Given the description of an element on the screen output the (x, y) to click on. 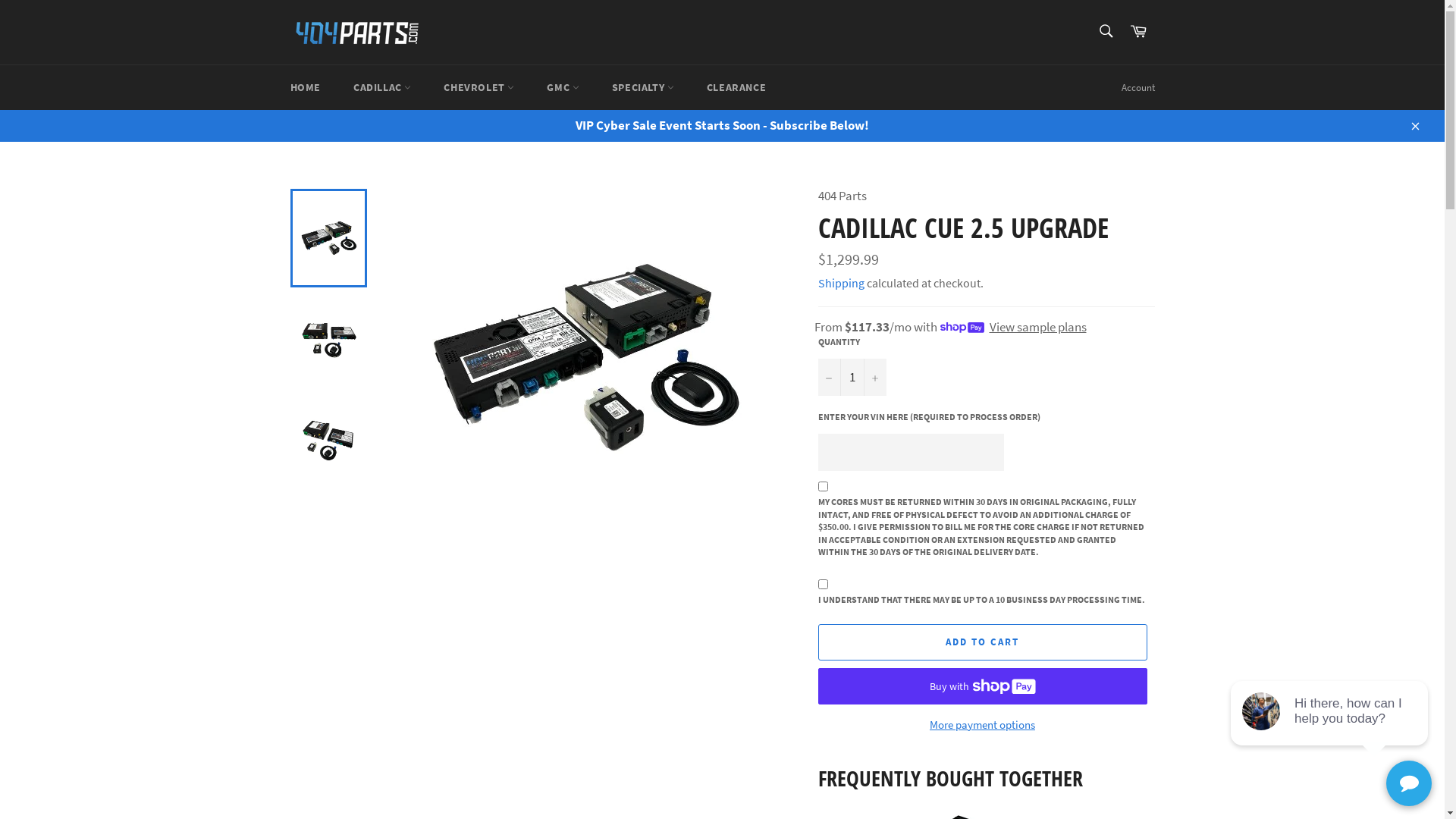
CLEARANCE Element type: text (736, 87)
Account Element type: text (1137, 87)
ADD TO CART Element type: text (981, 642)
GMC Element type: text (562, 87)
More payment options Element type: text (981, 725)
Close Element type: text (1414, 125)
Shipping Element type: text (840, 282)
CHEVROLET Element type: text (478, 87)
CADILLAC Element type: text (382, 87)
Search Element type: text (1105, 31)
+ Element type: text (873, 376)
HOME Element type: text (304, 87)
SPECIALTY Element type: text (642, 87)
Cart Element type: text (1138, 32)
